Given the description of an element on the screen output the (x, y) to click on. 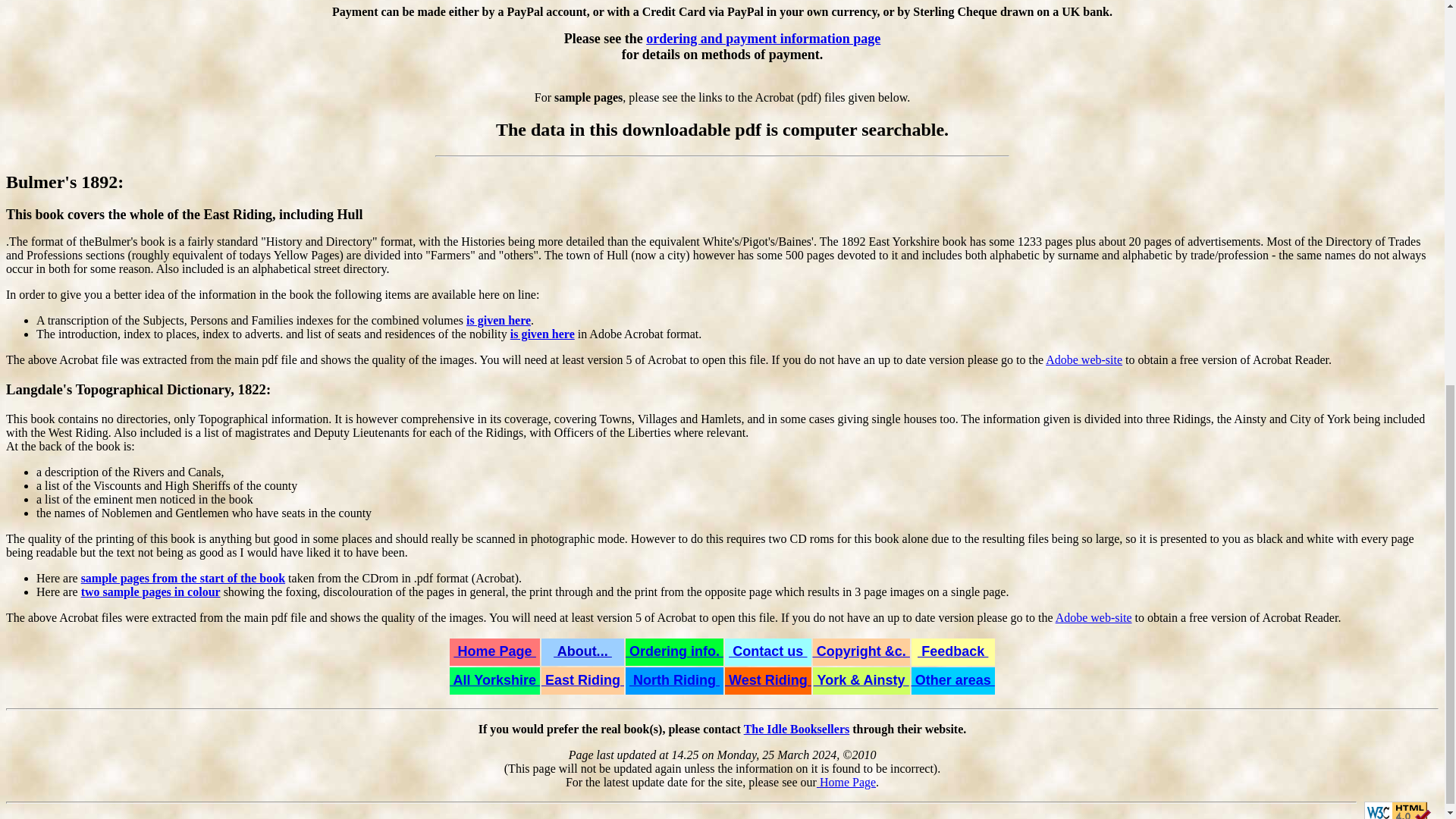
Adobe web-site (1093, 617)
two sample pages in colour (151, 591)
Home Page (846, 781)
is given here (543, 333)
 Other areas  (952, 679)
ordering and payment information page (763, 38)
 West Riding  (767, 679)
 East Riding  (582, 679)
 About...  (582, 650)
 Contact us  (767, 651)
 Feedback  (952, 651)
 North Riding  (673, 679)
Adobe web-site (1083, 359)
 All Yorkshire  (494, 679)
sample pages from the start of the book (183, 577)
